Given the description of an element on the screen output the (x, y) to click on. 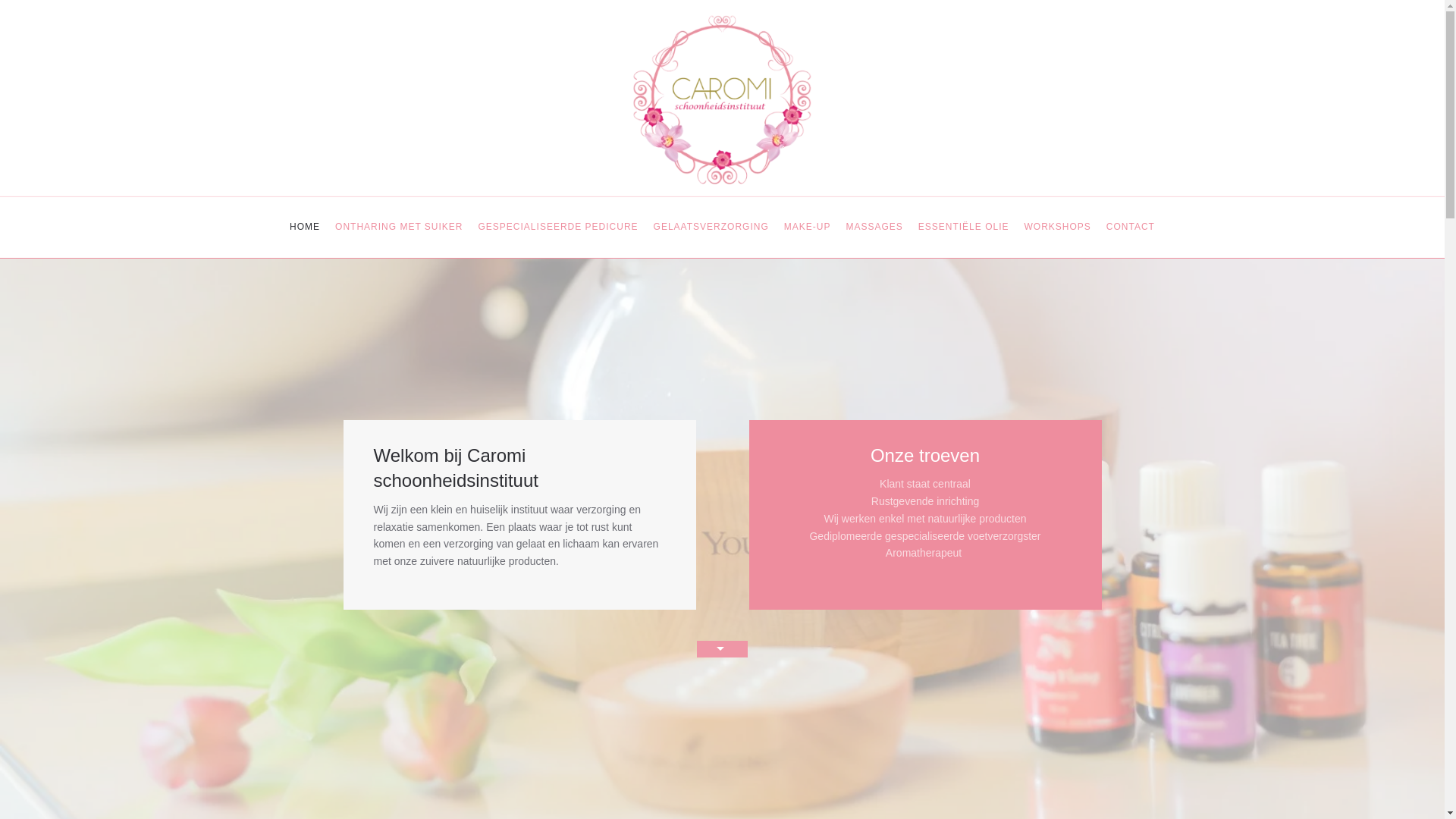
MAKE-UP Element type: text (807, 227)
MASSAGES Element type: text (873, 227)
GESPECIALISEERDE PEDICURE Element type: text (558, 227)
HOME Element type: text (304, 227)
ONTHARING MET SUIKER Element type: text (398, 227)
GELAATSVERZORGING Element type: text (711, 227)
CONTACT Element type: text (1130, 227)
WORKSHOPS Element type: text (1057, 227)
